Given the description of an element on the screen output the (x, y) to click on. 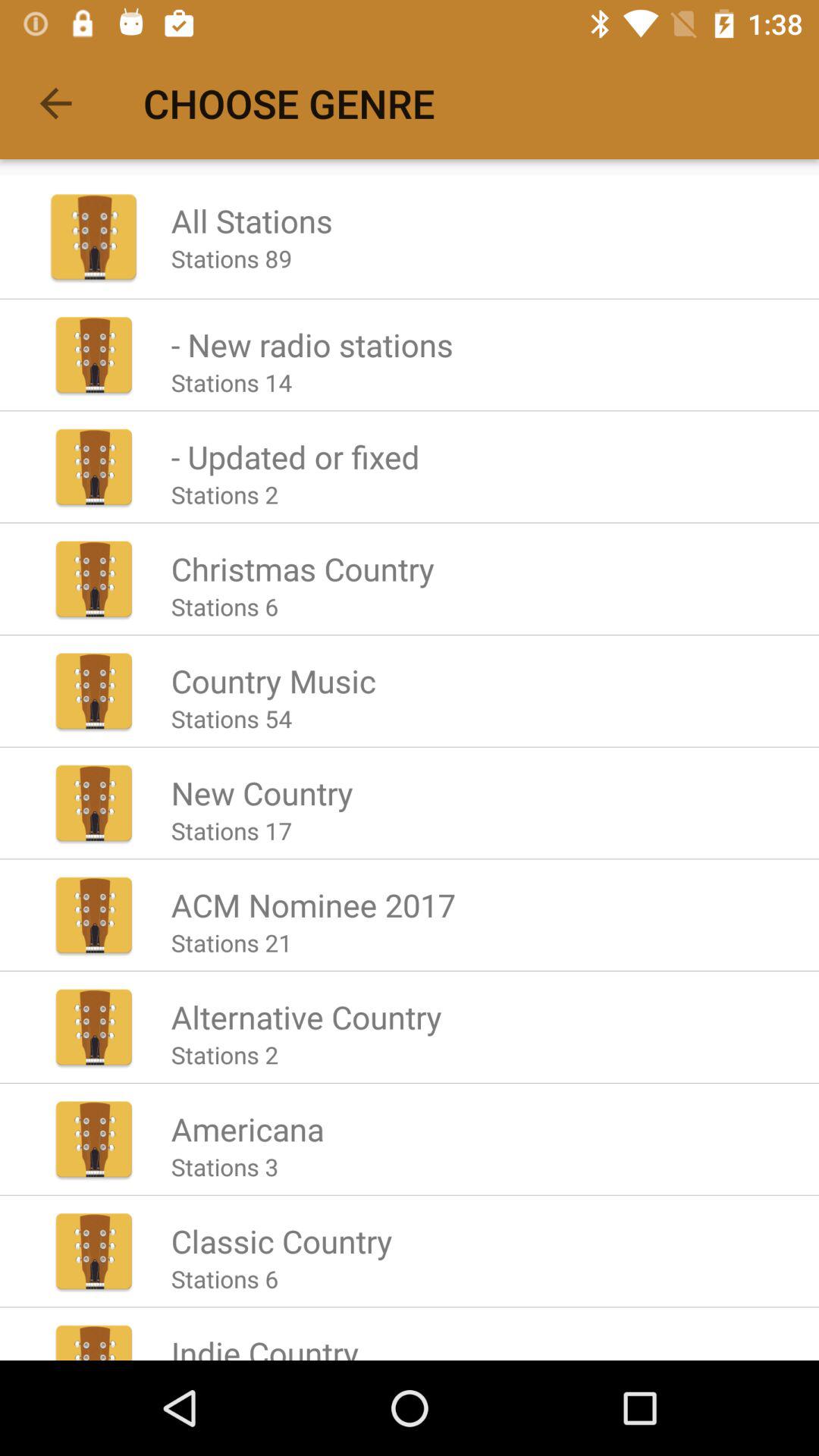
turn on stations 21 item (231, 942)
